Given the description of an element on the screen output the (x, y) to click on. 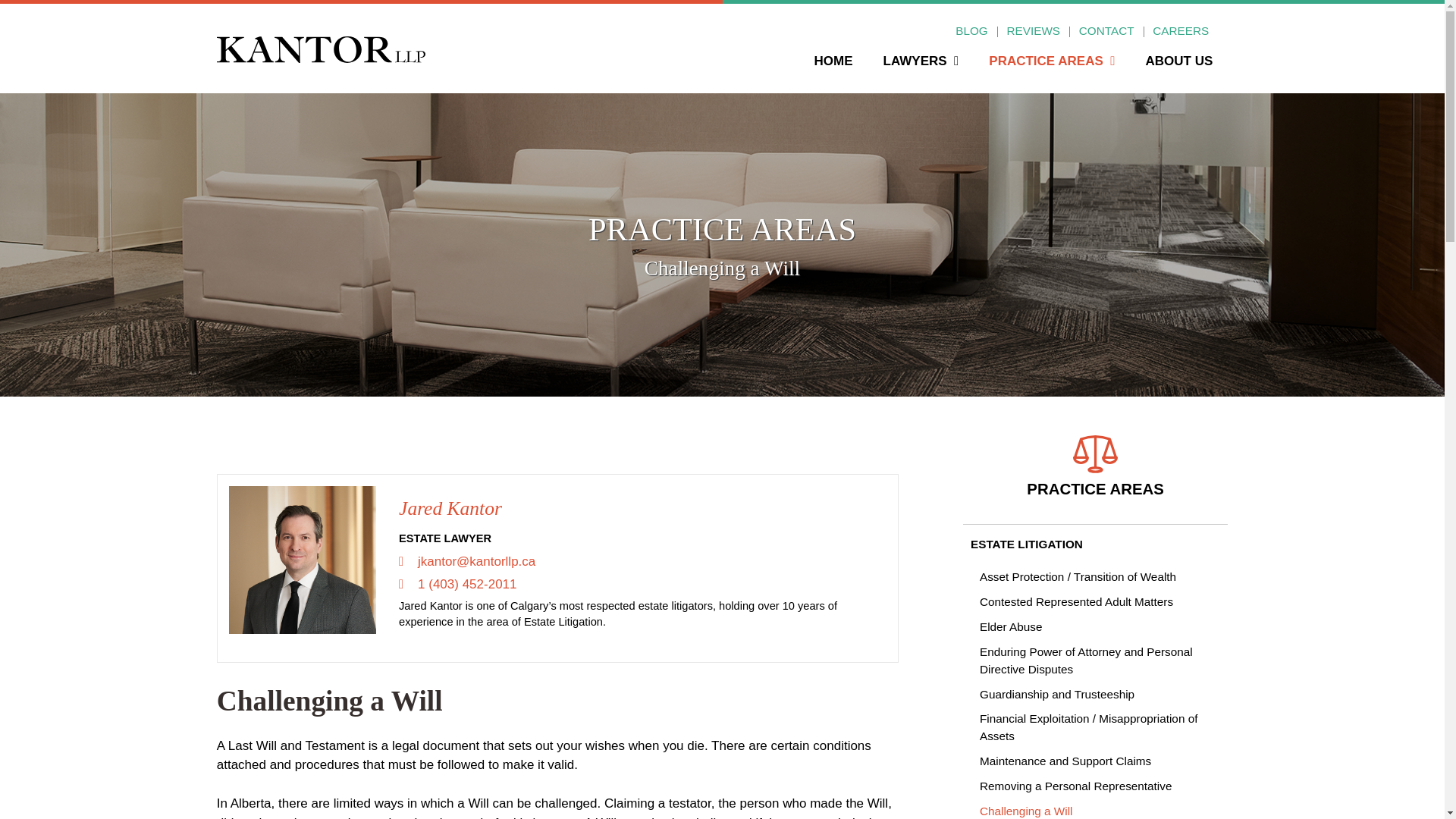
BLOG (971, 31)
HOME (833, 69)
LAWYERS   (920, 69)
PRACTICE AREAS   (1051, 69)
CAREERS (1179, 31)
CONTACT (1106, 31)
REVIEWS (1032, 31)
